Given the description of an element on the screen output the (x, y) to click on. 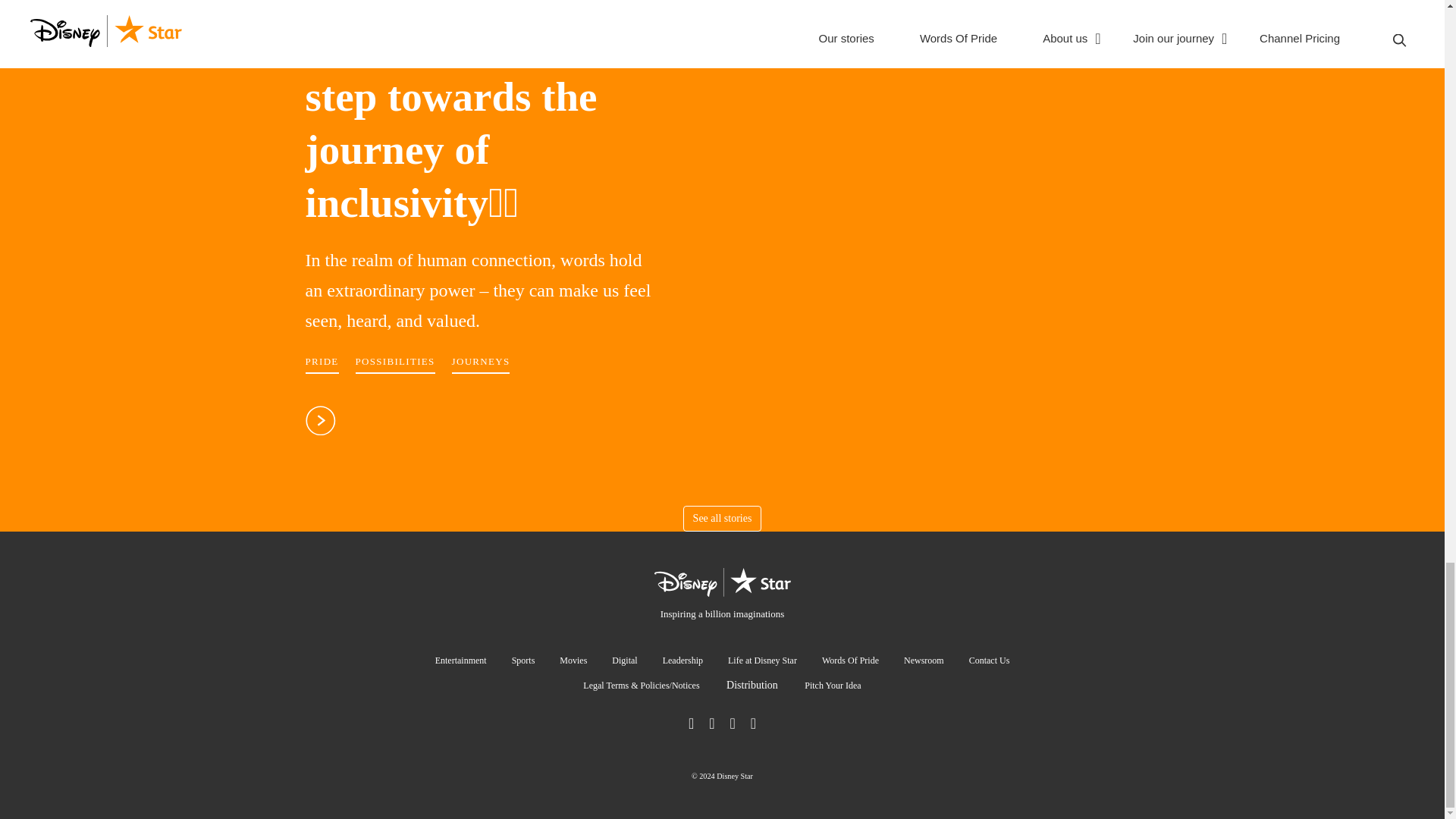
Words of Pride (319, 428)
Journeys (481, 363)
Our stories (721, 518)
Sports (523, 662)
Pride (320, 363)
Entertainment (460, 662)
Movies (572, 662)
Home Page (721, 594)
Possibilities (395, 363)
Words of Pride (478, 115)
